Given the description of an element on the screen output the (x, y) to click on. 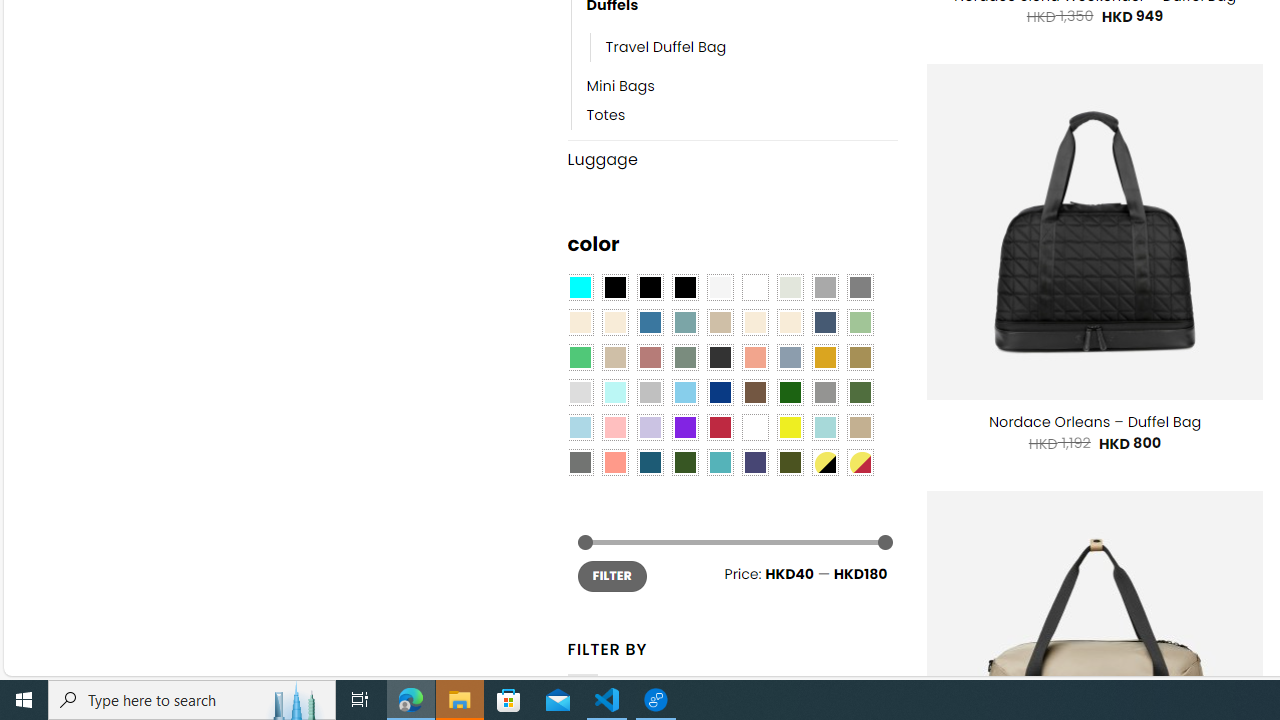
Forest (684, 462)
Black-Brown (684, 287)
Light Gray (579, 393)
Totes (605, 115)
